Given the description of an element on the screen output the (x, y) to click on. 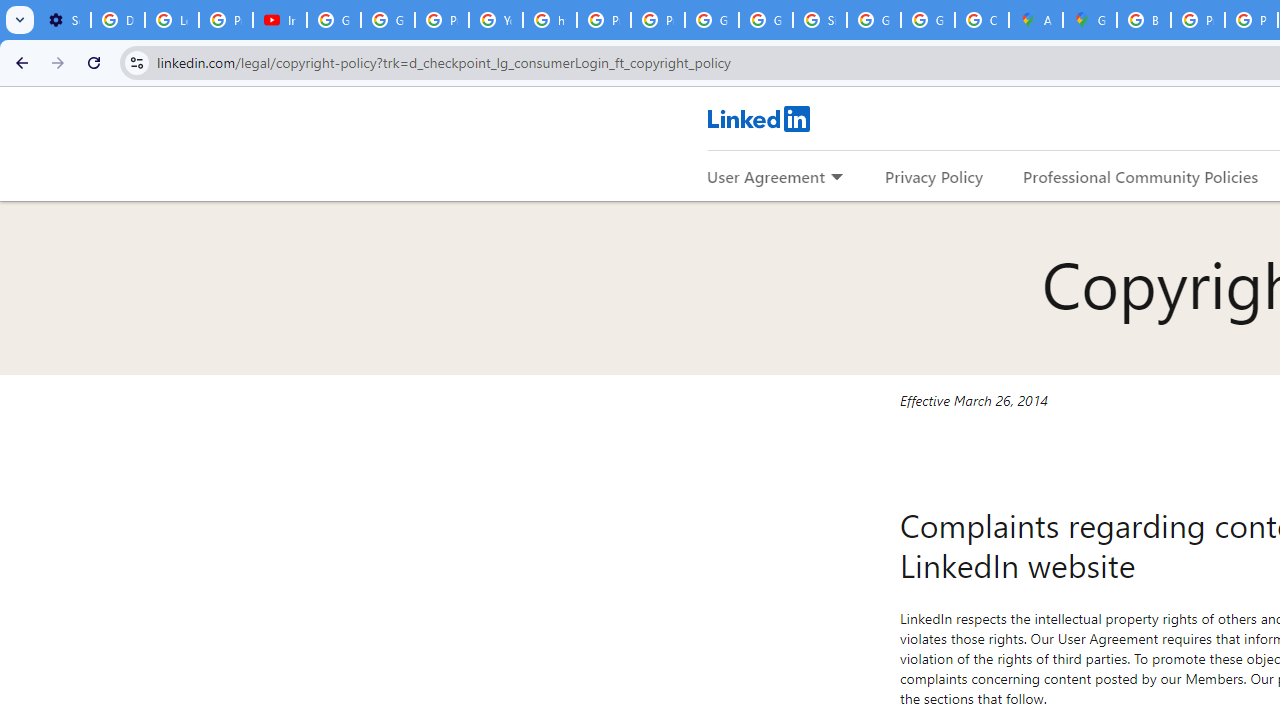
Google Account Help (333, 20)
Create your Google Account (981, 20)
Learn how to find your photos - Google Photos Help (171, 20)
Sign in - Google Accounts (819, 20)
Privacy Help Center - Policies Help (1197, 20)
YouTube (495, 20)
Expand to show more links for User Agreement (836, 178)
Delete photos & videos - Computer - Google Photos Help (117, 20)
